Given the description of an element on the screen output the (x, y) to click on. 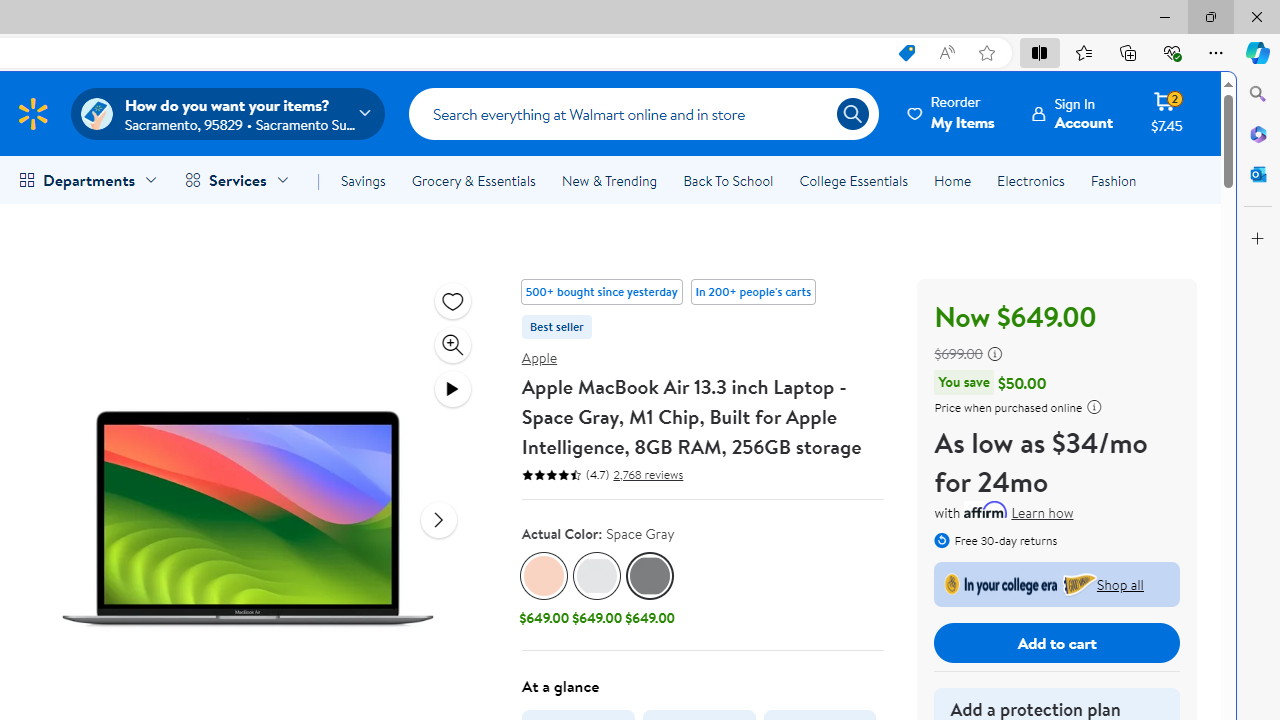
Electronics (1030, 180)
Apple (539, 357)
Close Search pane (1258, 94)
New & Trending (608, 180)
Shop all (1057, 584)
Back To School (728, 180)
Home (952, 180)
Sign In Account (1072, 113)
Walmart Homepage (32, 113)
next media item (437, 519)
